Given the description of an element on the screen output the (x, y) to click on. 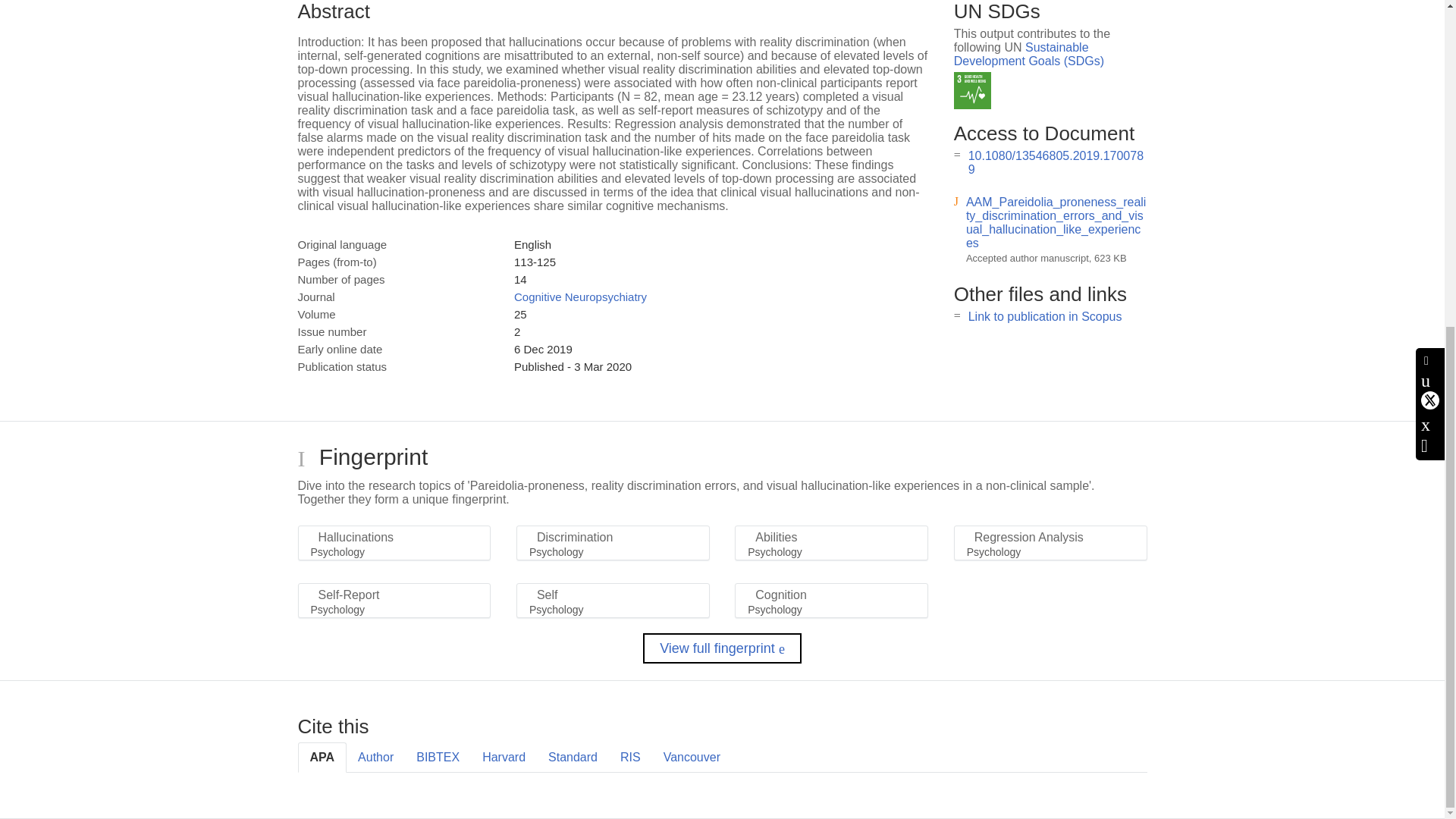
SDG 3 - Good Health and Well-being (972, 90)
Link to publication in Scopus (1045, 316)
Cognitive Neuropsychiatry (579, 296)
View full fingerprint (722, 648)
